Given the description of an element on the screen output the (x, y) to click on. 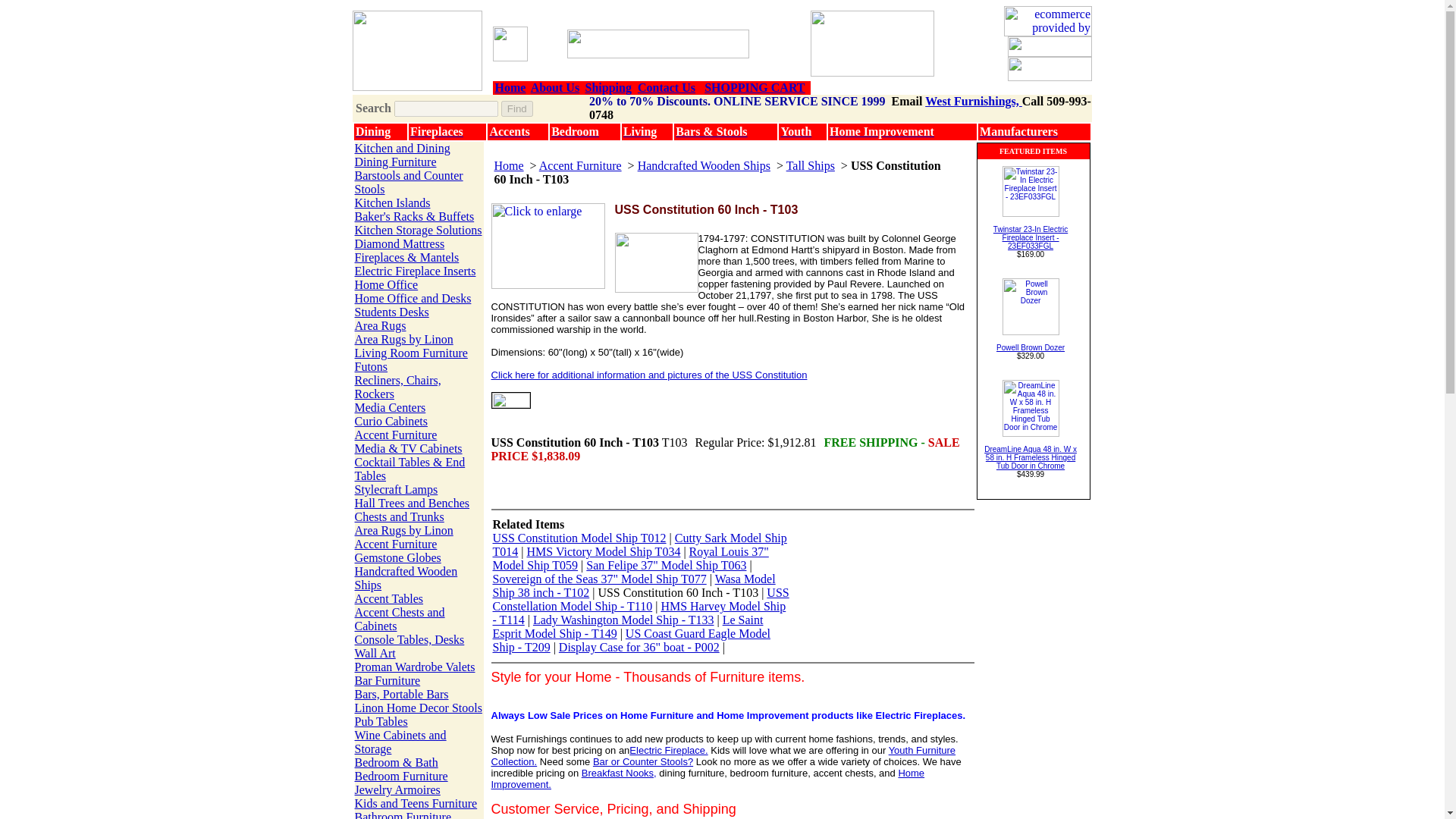
Youth (795, 131)
Recliners, Chairs, Rockers (398, 386)
Bedroom (574, 131)
Home Improvement (881, 131)
Area Rugs by Linon (403, 338)
Accents (509, 131)
West Furnishings, (973, 101)
Find (516, 107)
Manufacturers (1018, 131)
Kitchen and Dining (402, 147)
